Given the description of an element on the screen output the (x, y) to click on. 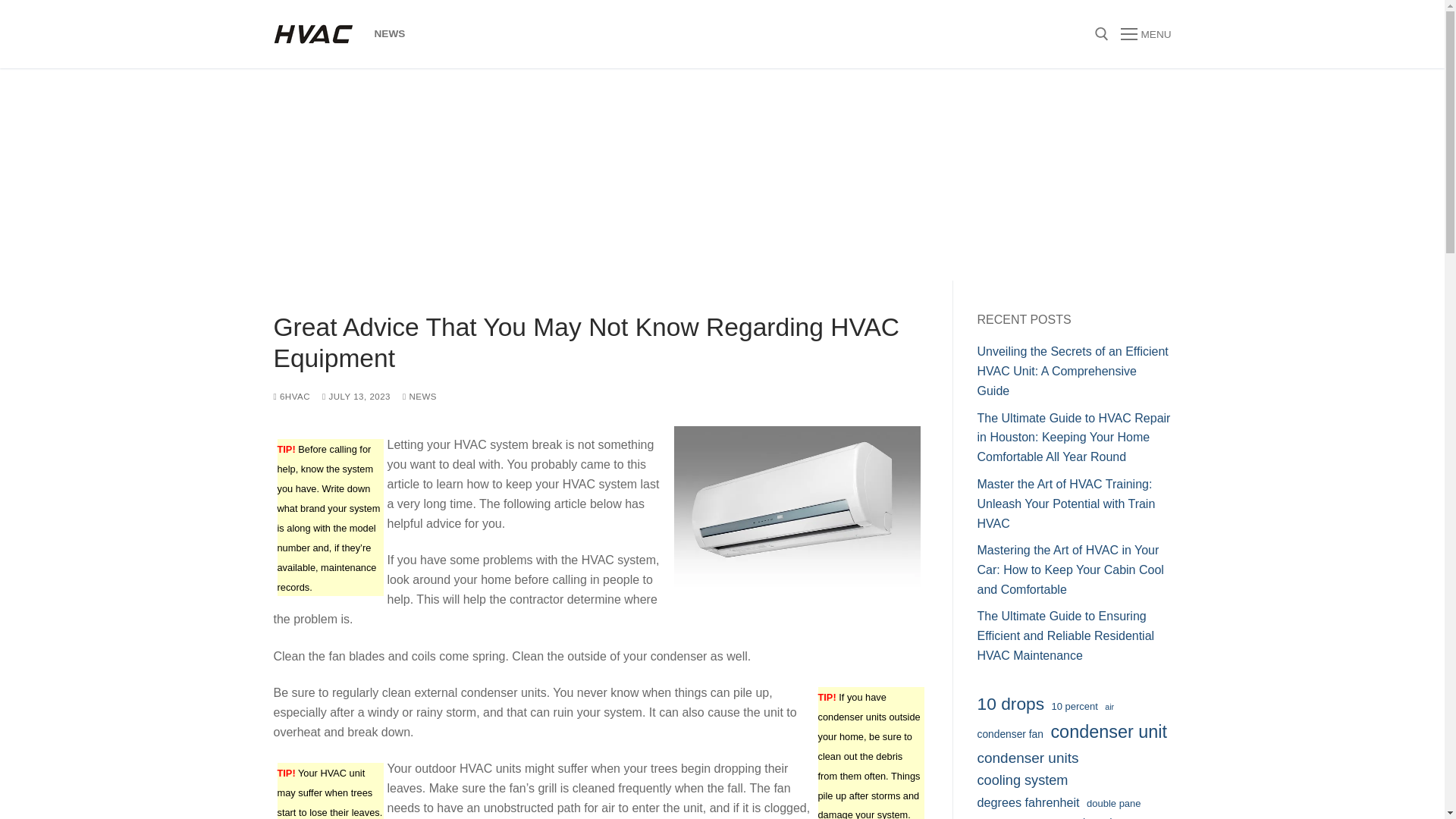
10 percent (1074, 706)
MENU (1145, 34)
6HVAC (290, 396)
NEWS (389, 33)
NEWS (419, 396)
JULY 13, 2023 (355, 396)
10 drops (1009, 704)
